Given the description of an element on the screen output the (x, y) to click on. 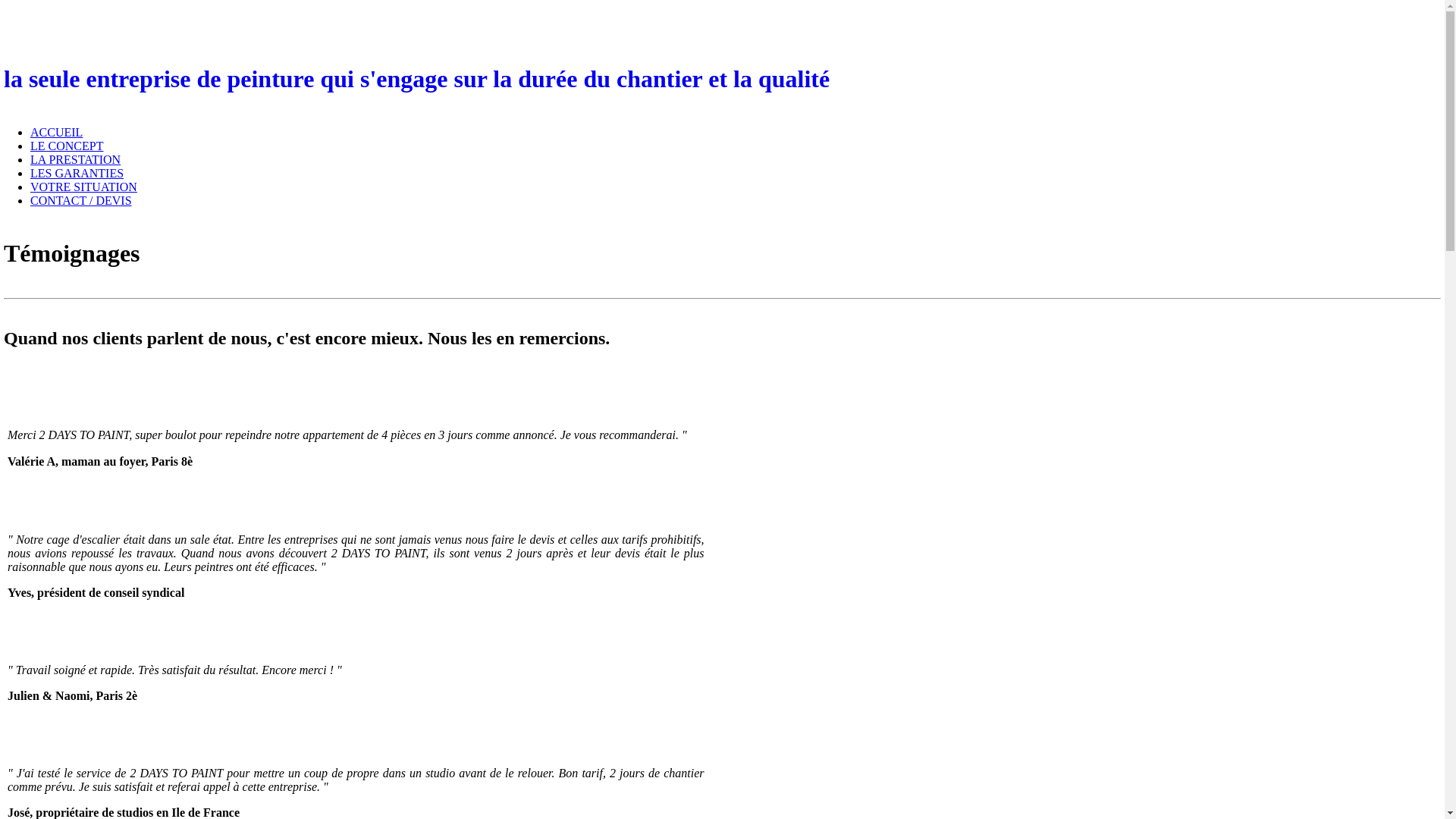
LA PRESTATION Element type: text (75, 159)
LE CONCEPT Element type: text (66, 145)
ACCUEIL Element type: text (56, 131)
LES GARANTIES Element type: text (76, 172)
VOTRE SITUATION Element type: text (83, 186)
CONTACT / DEVIS Element type: text (80, 200)
